Given the description of an element on the screen output the (x, y) to click on. 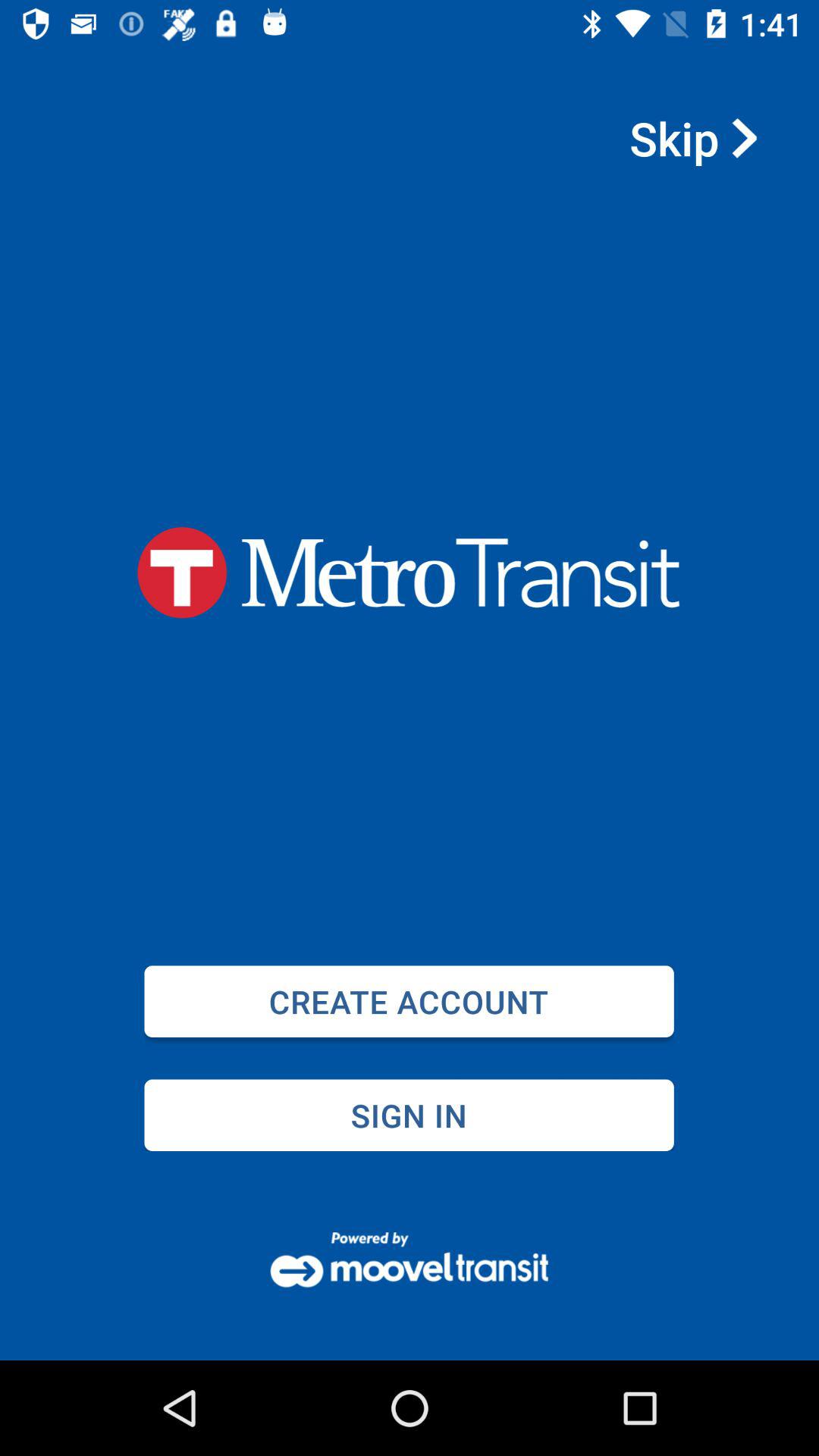
turn on sign in (408, 1115)
